Given the description of an element on the screen output the (x, y) to click on. 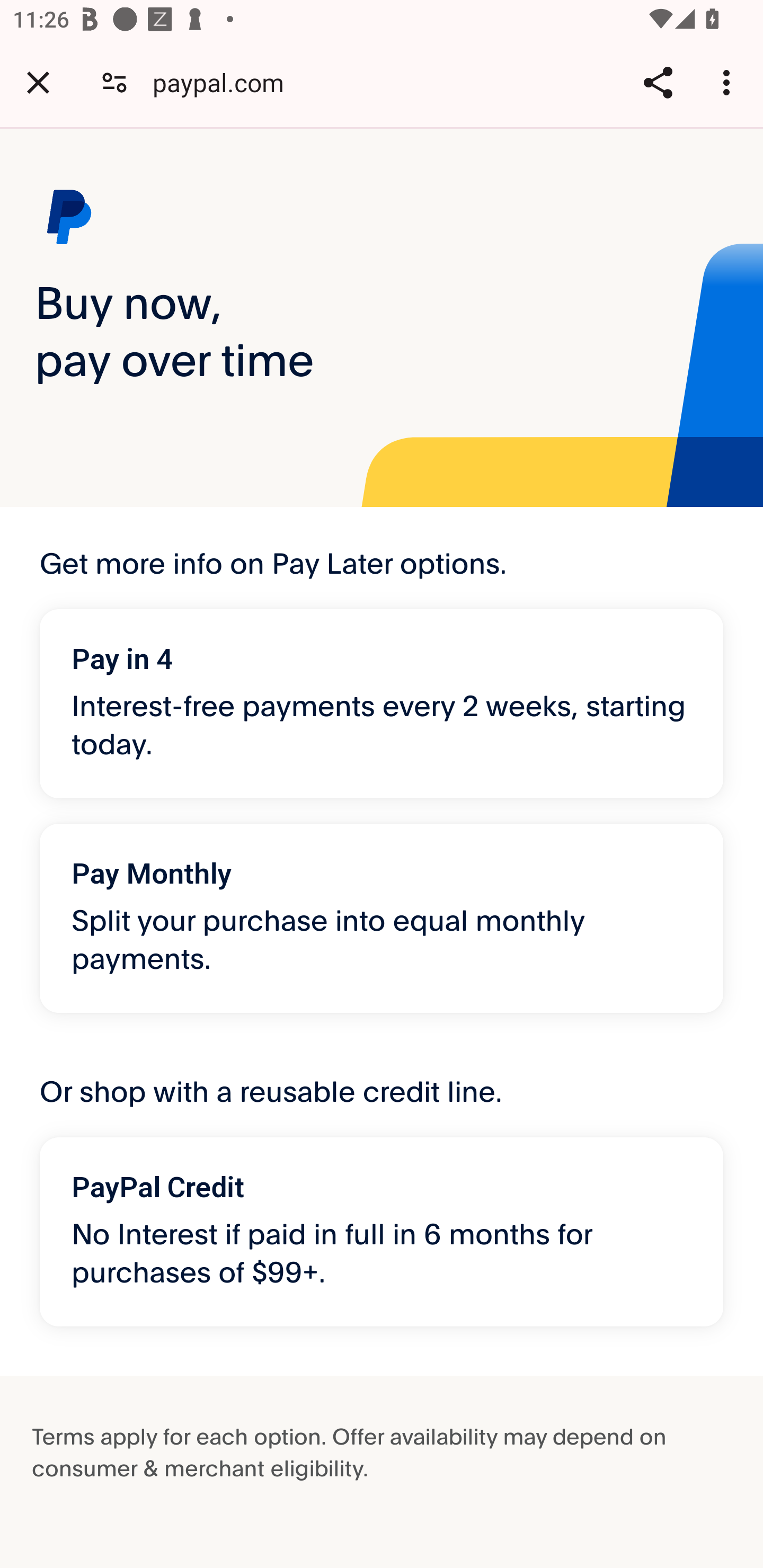
Close tab (38, 82)
Share (657, 82)
Customize and control Google Chrome (729, 82)
Connection is secure (114, 81)
paypal.com (224, 81)
